Given the description of an element on the screen output the (x, y) to click on. 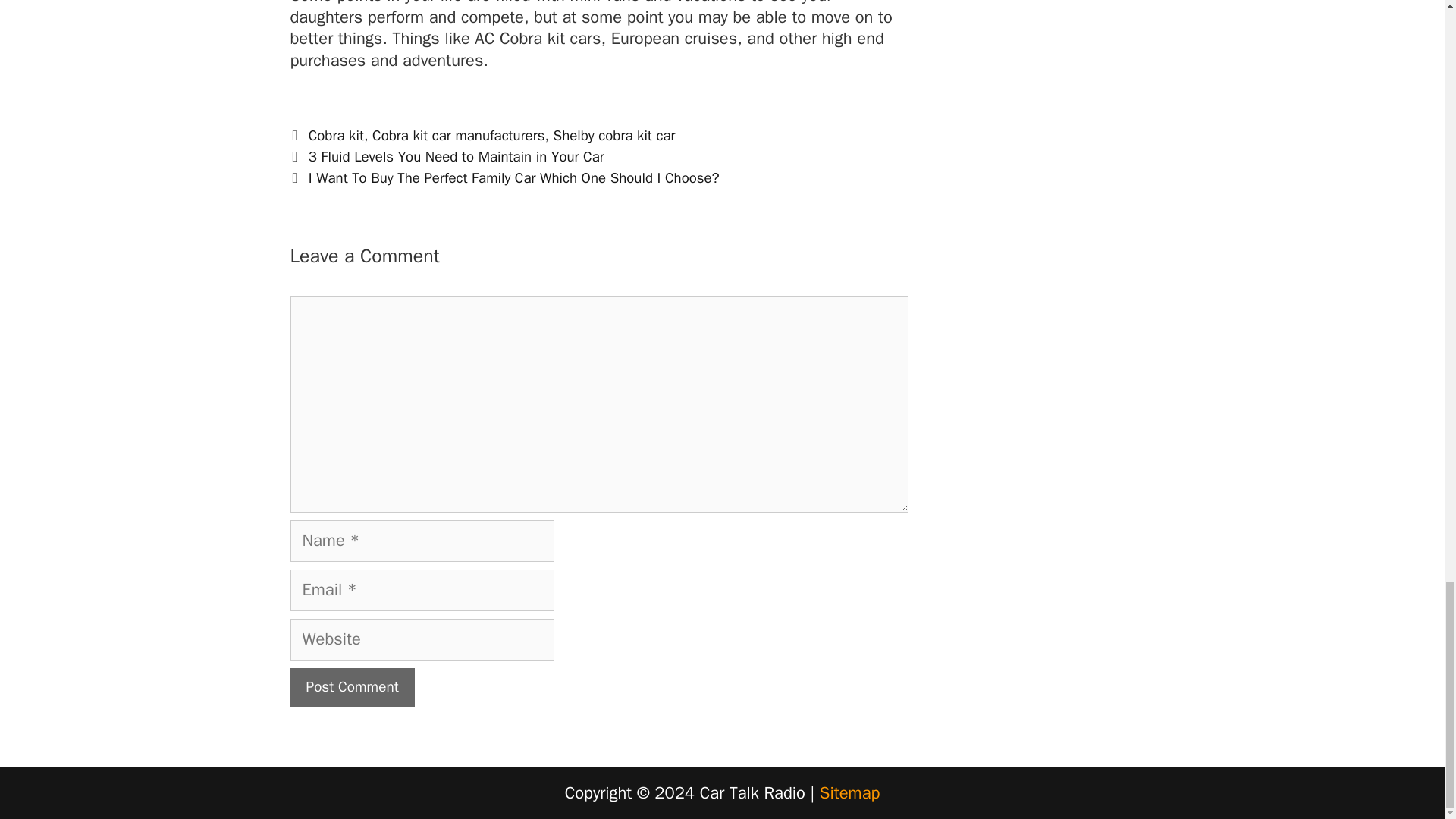
3 Fluid Levels You Need to Maintain in Your Car (456, 157)
Sitemap (849, 792)
Next (504, 177)
Post Comment (351, 687)
Previous (446, 157)
Post Comment (351, 687)
Cobra kit car manufacturers (458, 135)
Cobra kit (336, 135)
Shelby cobra kit car (614, 135)
